Given the description of an element on the screen output the (x, y) to click on. 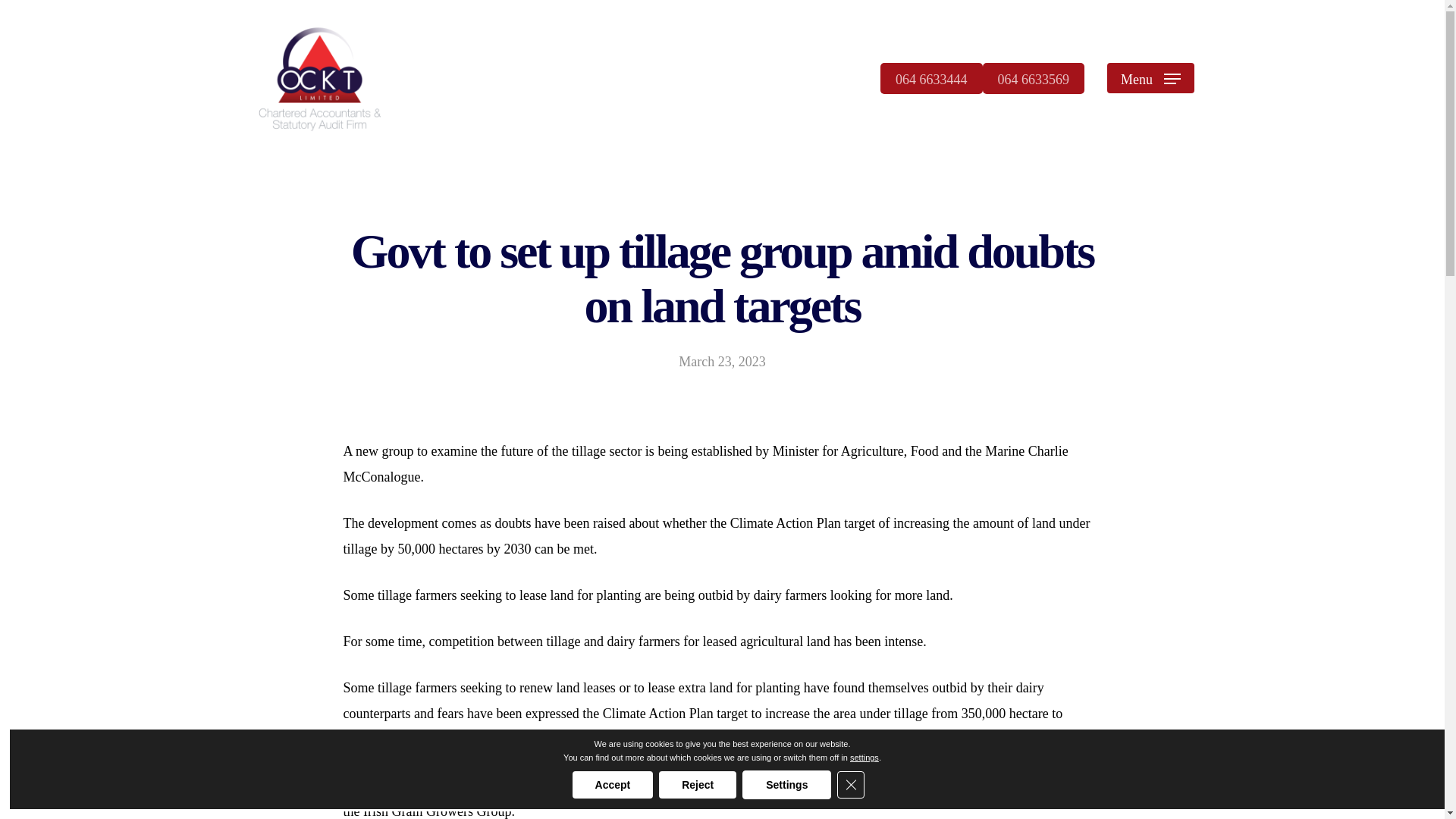
Menu (1149, 77)
064 6633444 (931, 77)
064 6633569 (1033, 77)
